Given the description of an element on the screen output the (x, y) to click on. 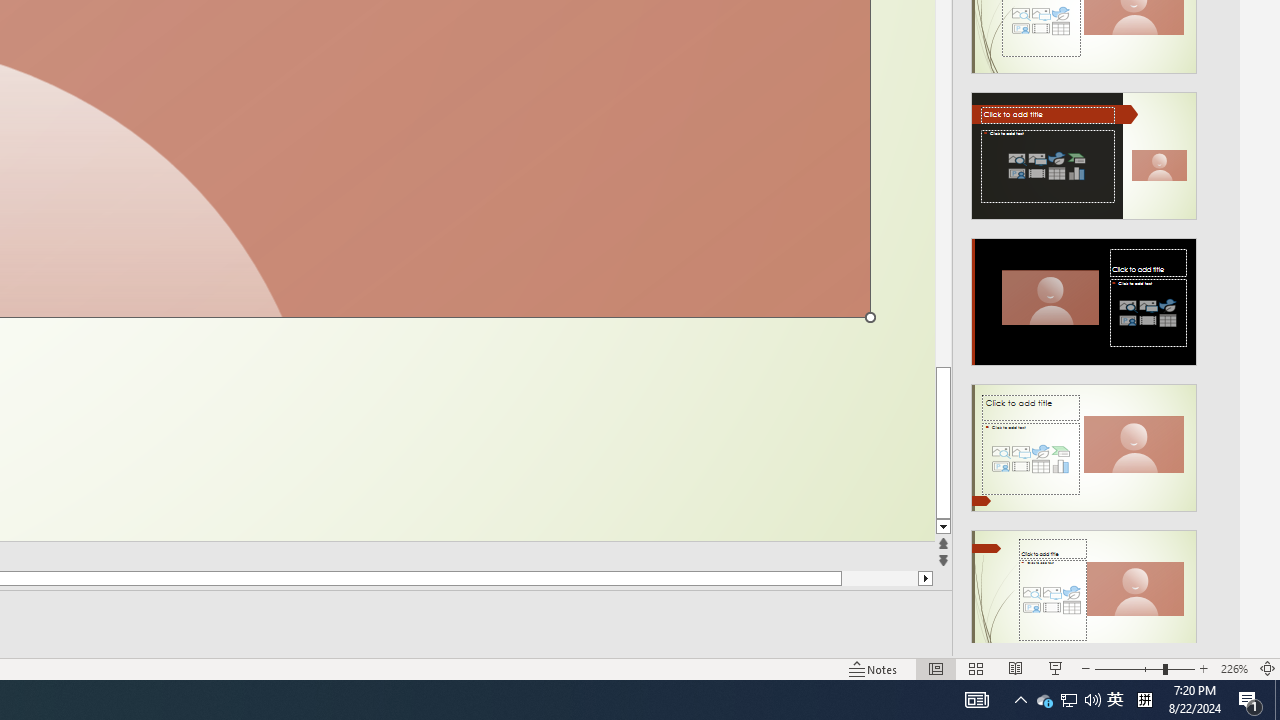
Zoom 226% (1234, 668)
